Given the description of an element on the screen output the (x, y) to click on. 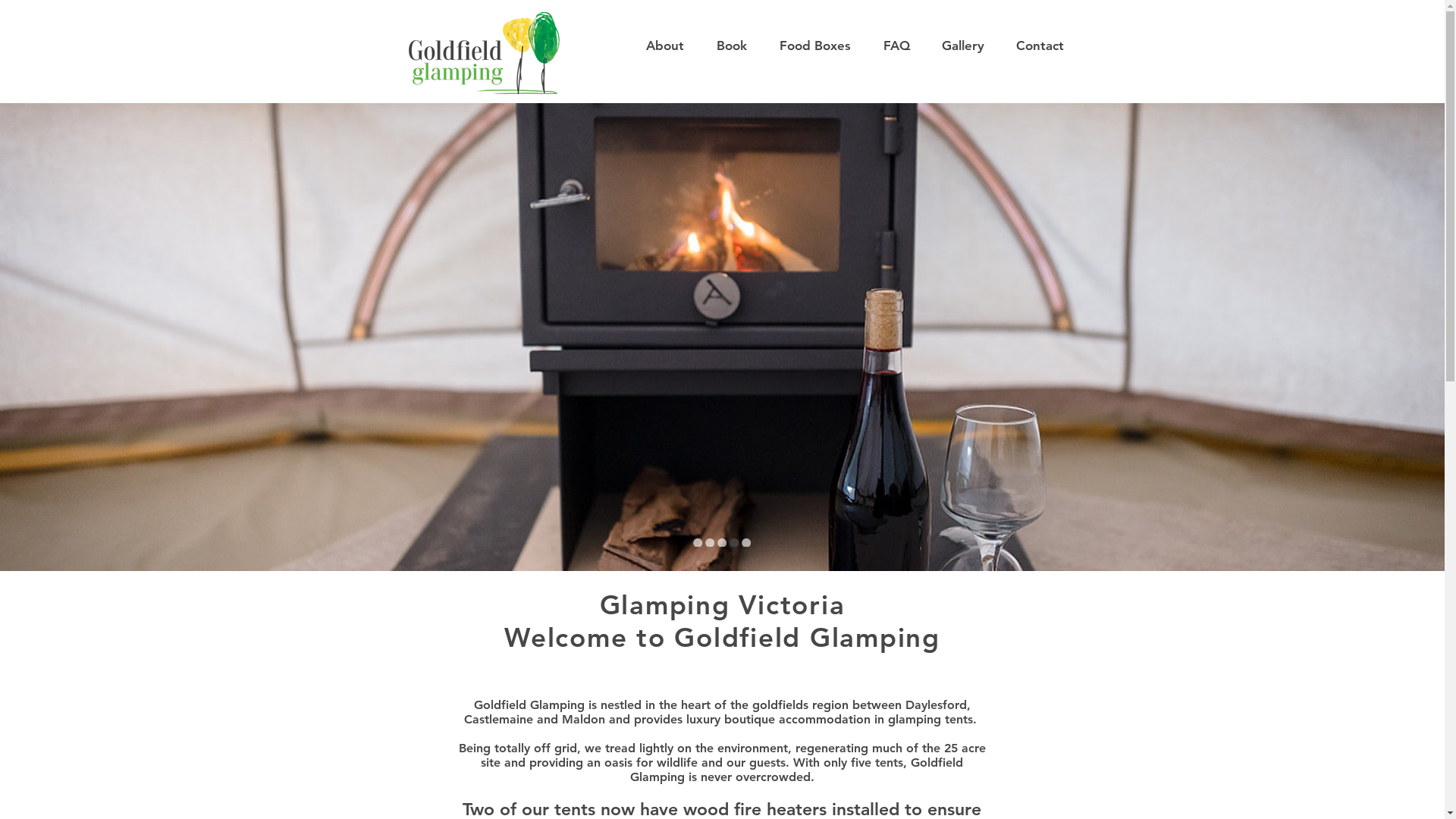
Book Element type: text (730, 45)
Contact Element type: text (1039, 45)
Gallery Element type: text (962, 45)
About Element type: text (664, 45)
FAQ Element type: text (895, 45)
Food Boxes Element type: text (814, 45)
